Given the description of an element on the screen output the (x, y) to click on. 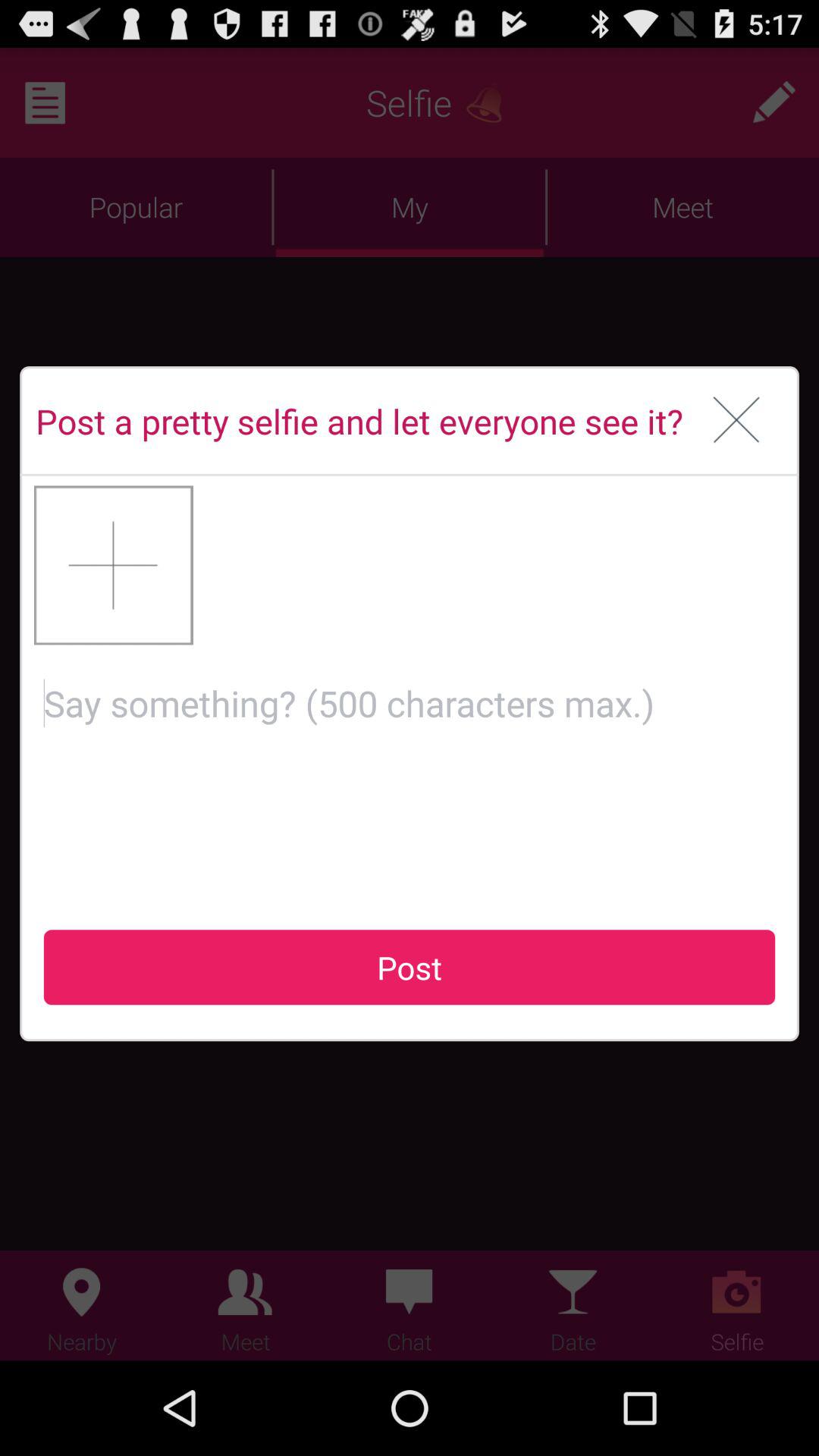
adding (113, 564)
